Given the description of an element on the screen output the (x, y) to click on. 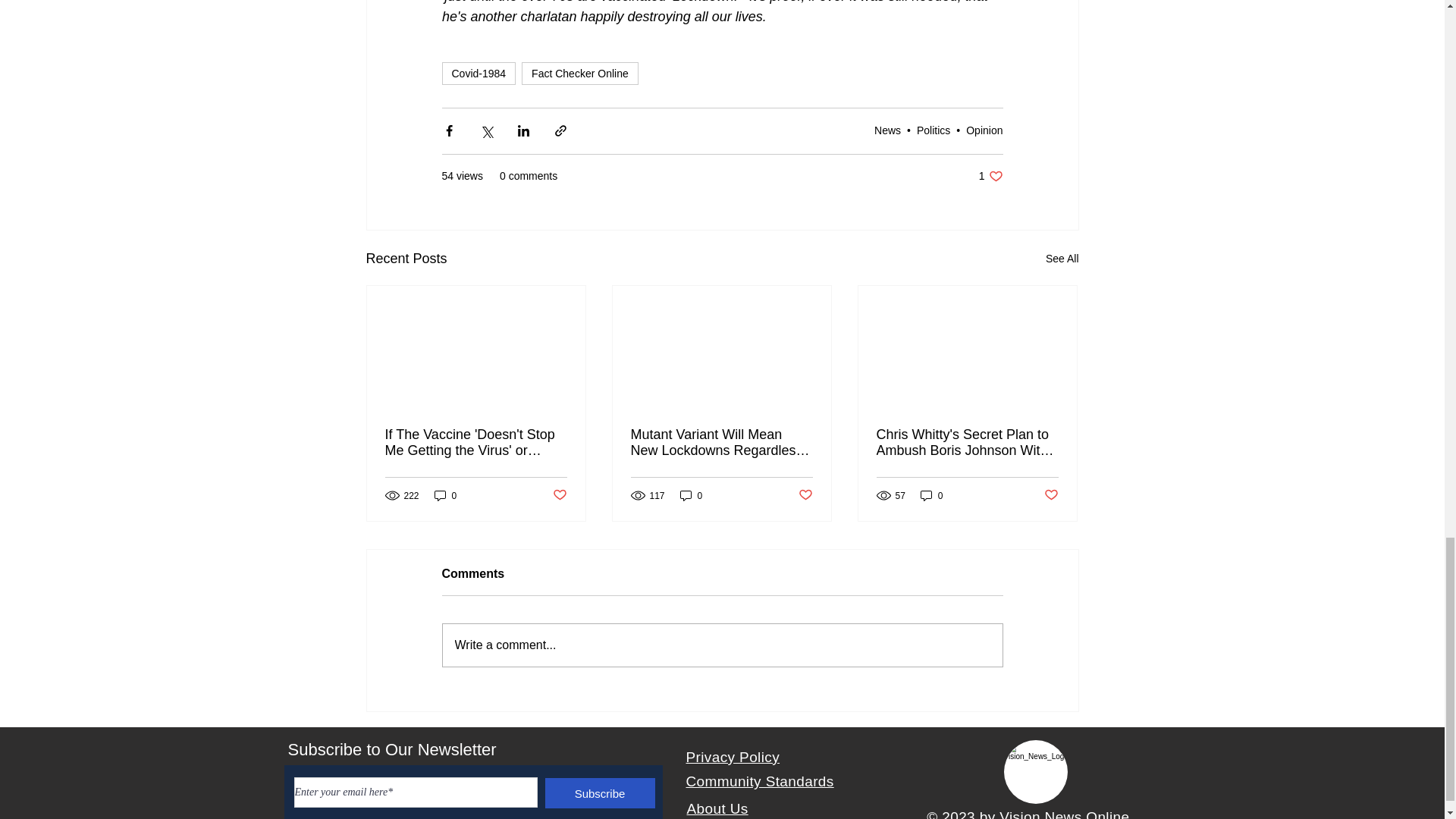
Post not marked as liked (804, 495)
Post not marked as liked (1050, 495)
0 (691, 495)
Covid-1984 (990, 175)
Opinion (478, 73)
Fact Checker Online (984, 130)
Post not marked as liked (580, 73)
0 (558, 495)
Write a comment... (931, 495)
News (722, 645)
Politics (888, 130)
Mutant Variant Will Mean New Lockdowns Regardless of Vaccine (933, 130)
